Given the description of an element on the screen output the (x, y) to click on. 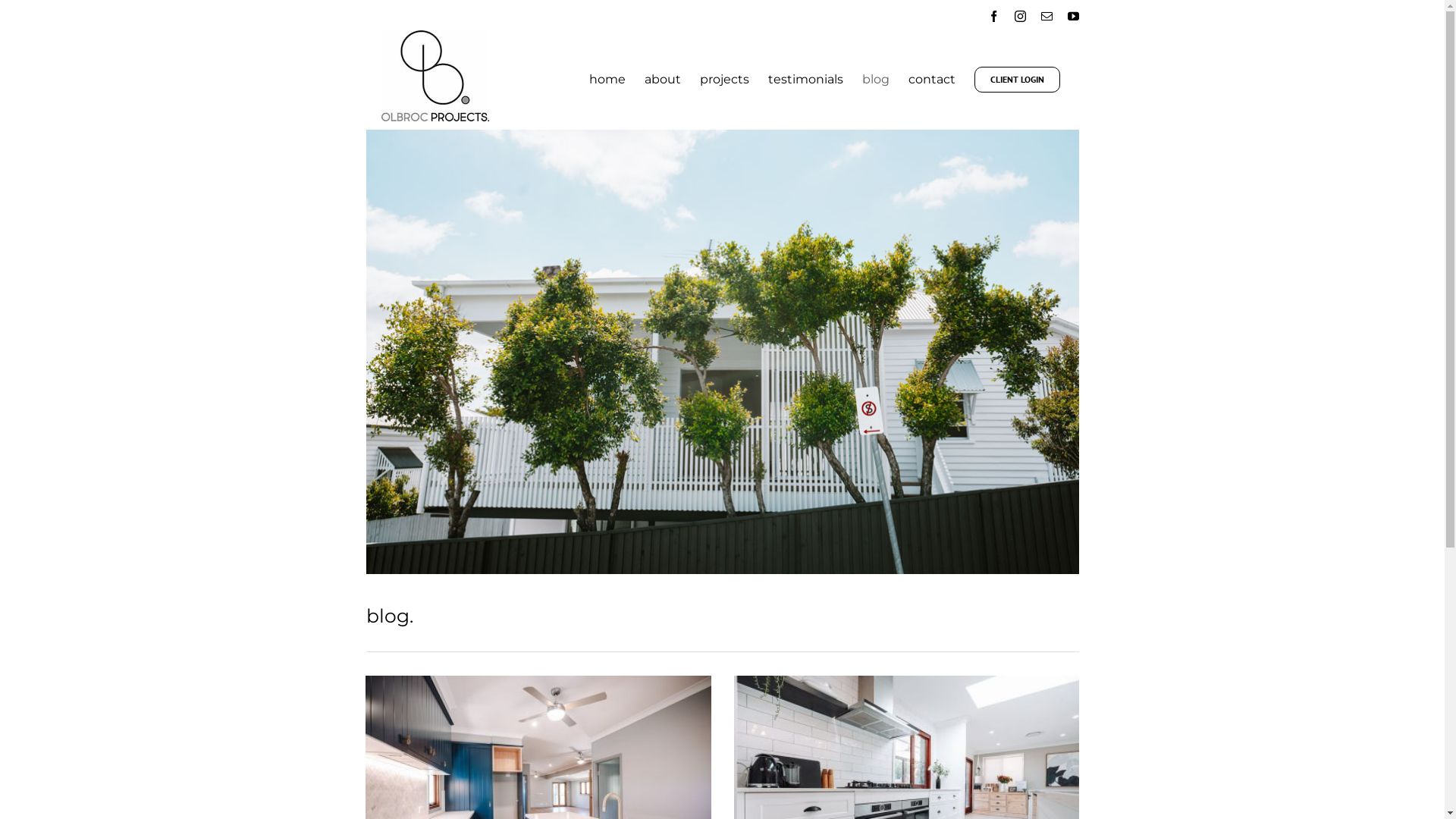
blog Element type: text (874, 79)
projects Element type: text (723, 79)
Email Element type: text (1045, 15)
YouTube Element type: text (1073, 15)
about Element type: text (662, 79)
testimonials Element type: text (804, 79)
contact Element type: text (931, 79)
home Element type: text (606, 79)
Instagram Element type: text (1020, 15)
Facebook Element type: text (992, 15)
header_1Dec21 Element type: hover (721, 351)
CLIENT LOGIN Element type: text (1016, 79)
